Given the description of an element on the screen output the (x, y) to click on. 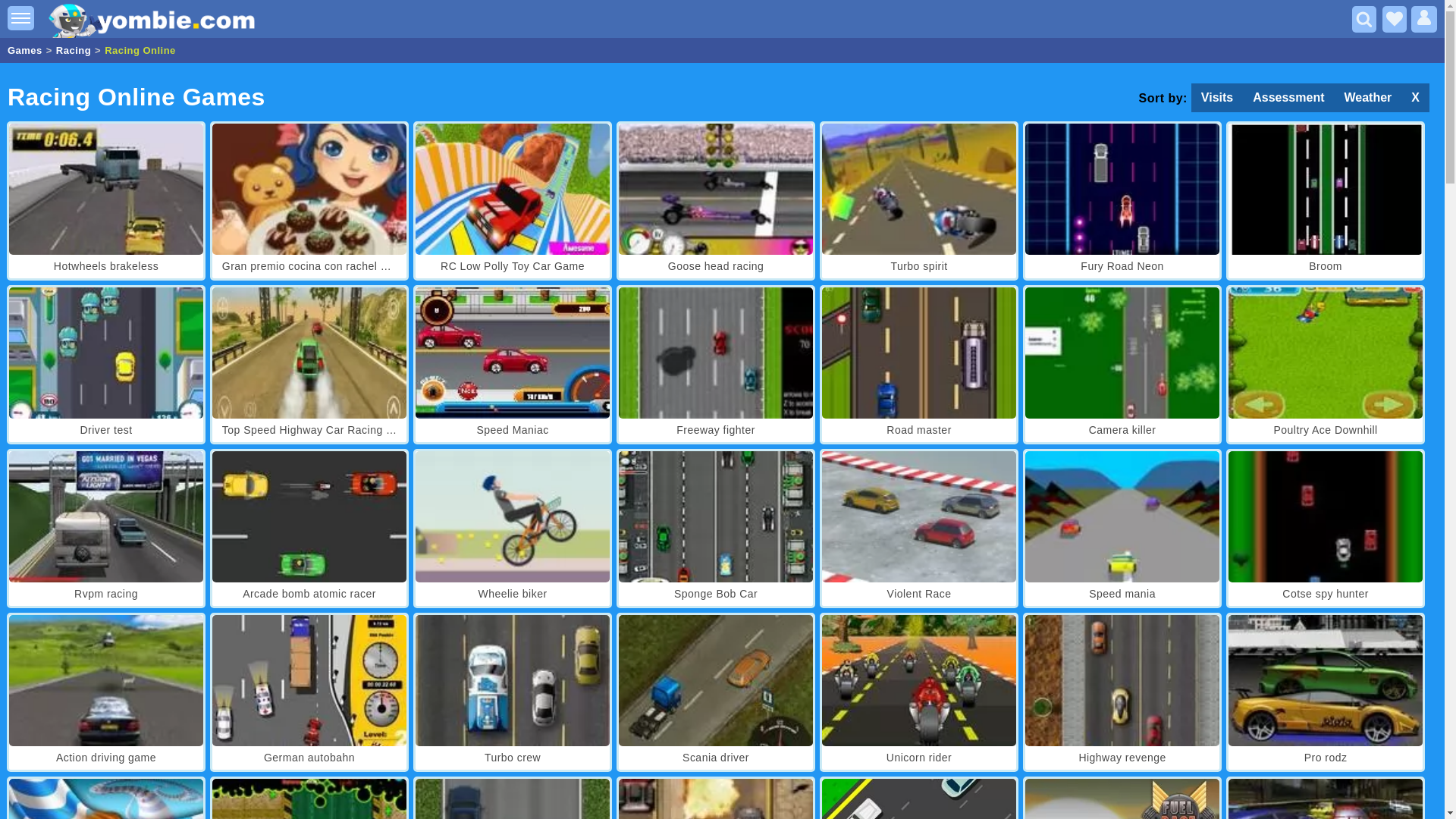
Fav (1393, 18)
To access (1423, 18)
Search (1363, 18)
